Given the description of an element on the screen output the (x, y) to click on. 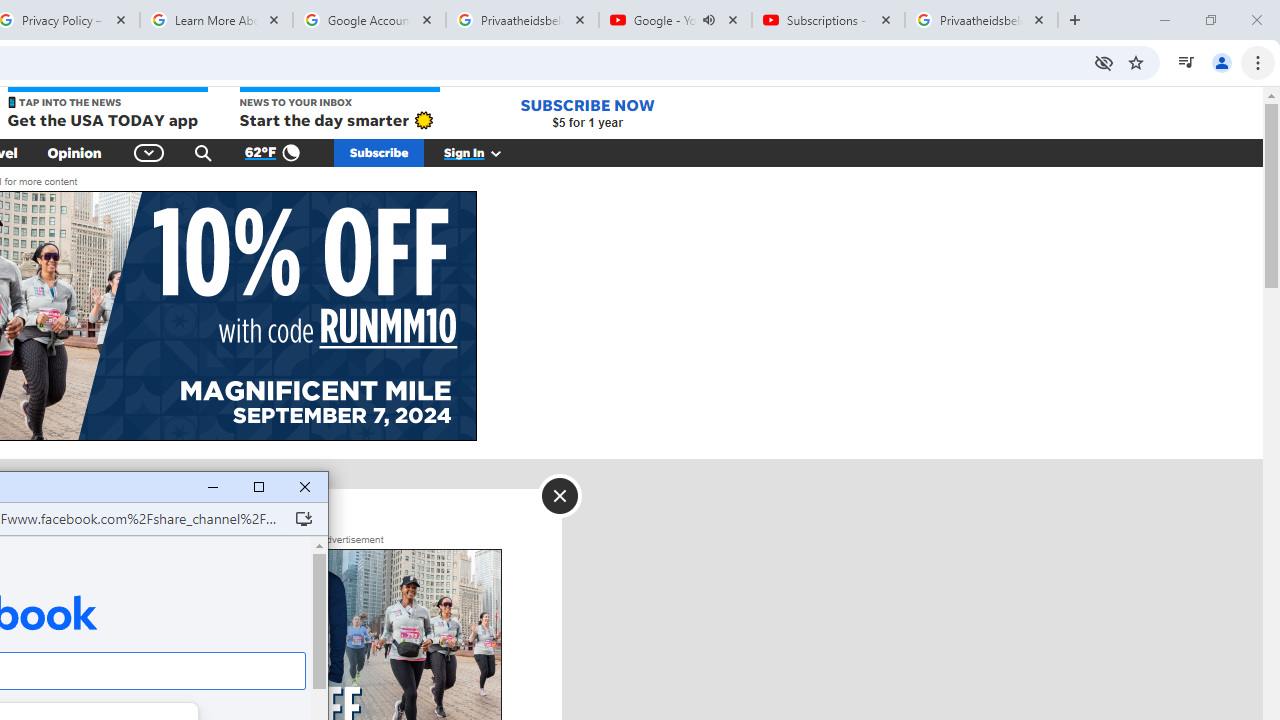
Google - YouTube - Audio playing (675, 20)
Subscribe (379, 152)
Google Account (369, 20)
Subscriptions - YouTube (827, 20)
